Given the description of an element on the screen output the (x, y) to click on. 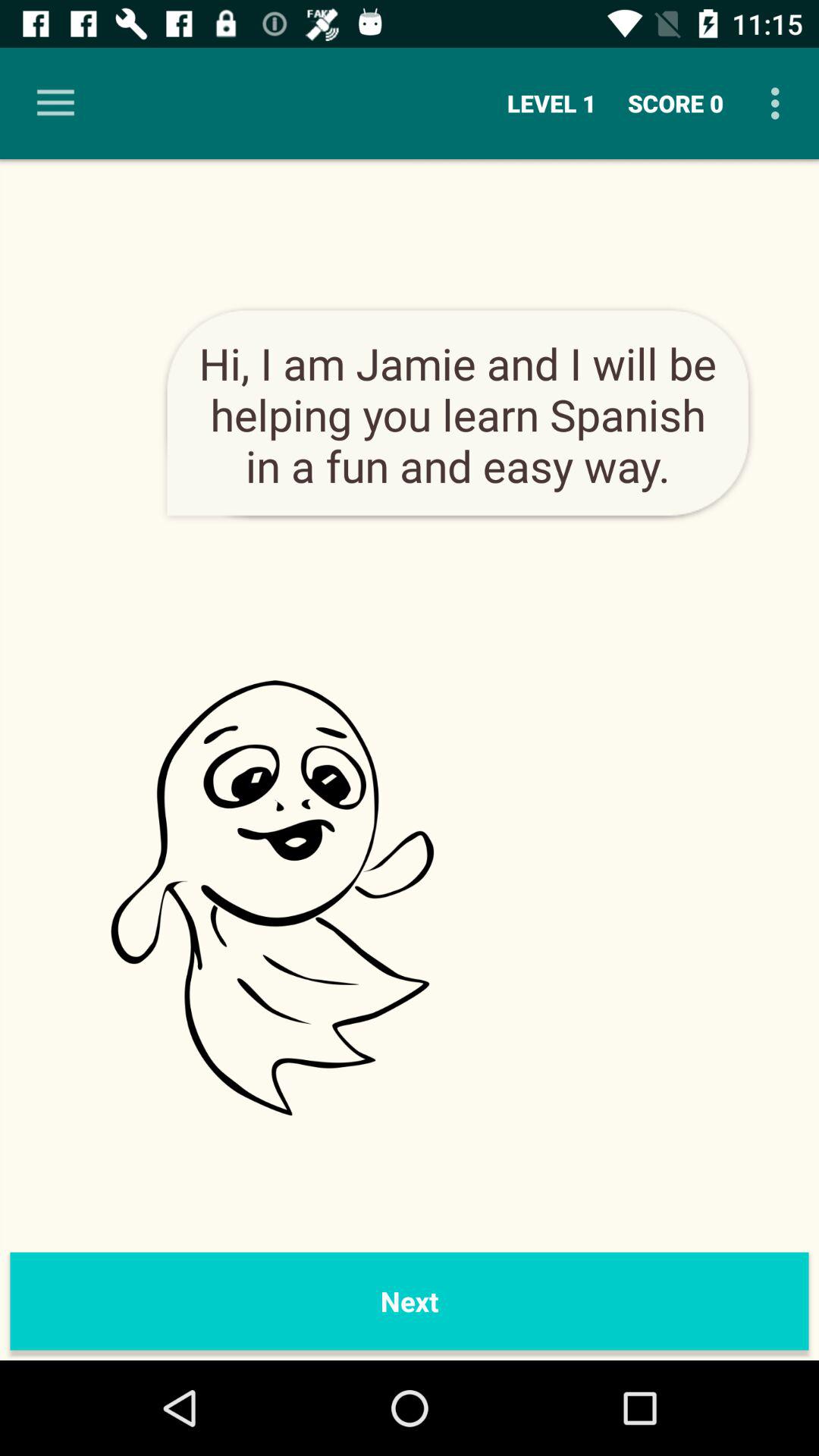
turn on the icon to the left of score 0 (551, 103)
